Given the description of an element on the screen output the (x, y) to click on. 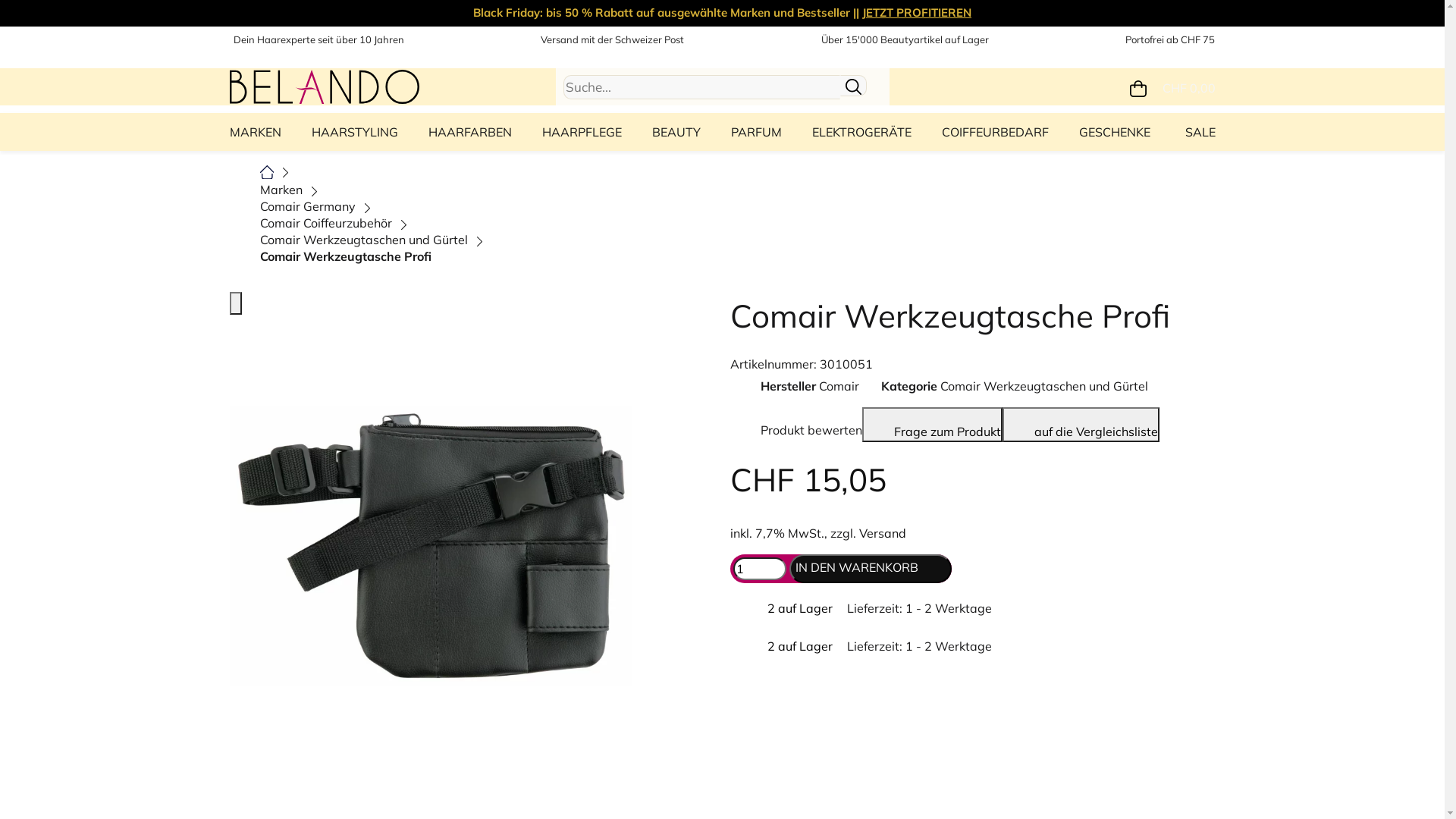
Versand Element type: text (881, 532)
Marken Element type: text (280, 189)
IN DEN WARENKORB Element type: text (869, 568)
Comair Werkzeugtasche Profi Element type: text (344, 255)
BEAUTY Element type: text (676, 131)
Produkt bewerten Element type: text (795, 424)
SALE Element type: text (1195, 131)
CHF 0,00 Element type: text (1172, 86)
Comair Element type: text (839, 385)
GESCHENKE Element type: text (1113, 131)
HAARPFLEGE Element type: text (581, 131)
Startseite Element type: hover (266, 170)
HAARSTYLING Element type: text (353, 131)
auf die Merkliste Element type: hover (233, 328)
COIFFEURBEDARF Element type: text (994, 131)
Frage zum Produkt Element type: text (931, 424)
Belando.ch Element type: hover (323, 84)
PARFUM Element type: text (756, 131)
Comair Germany Element type: text (306, 205)
HAARFARBEN Element type: text (469, 131)
JETZT PROFITIEREN Element type: text (916, 12)
MARKEN Element type: text (258, 131)
auf die Vergleichsliste Element type: text (1080, 424)
